Given the description of an element on the screen output the (x, y) to click on. 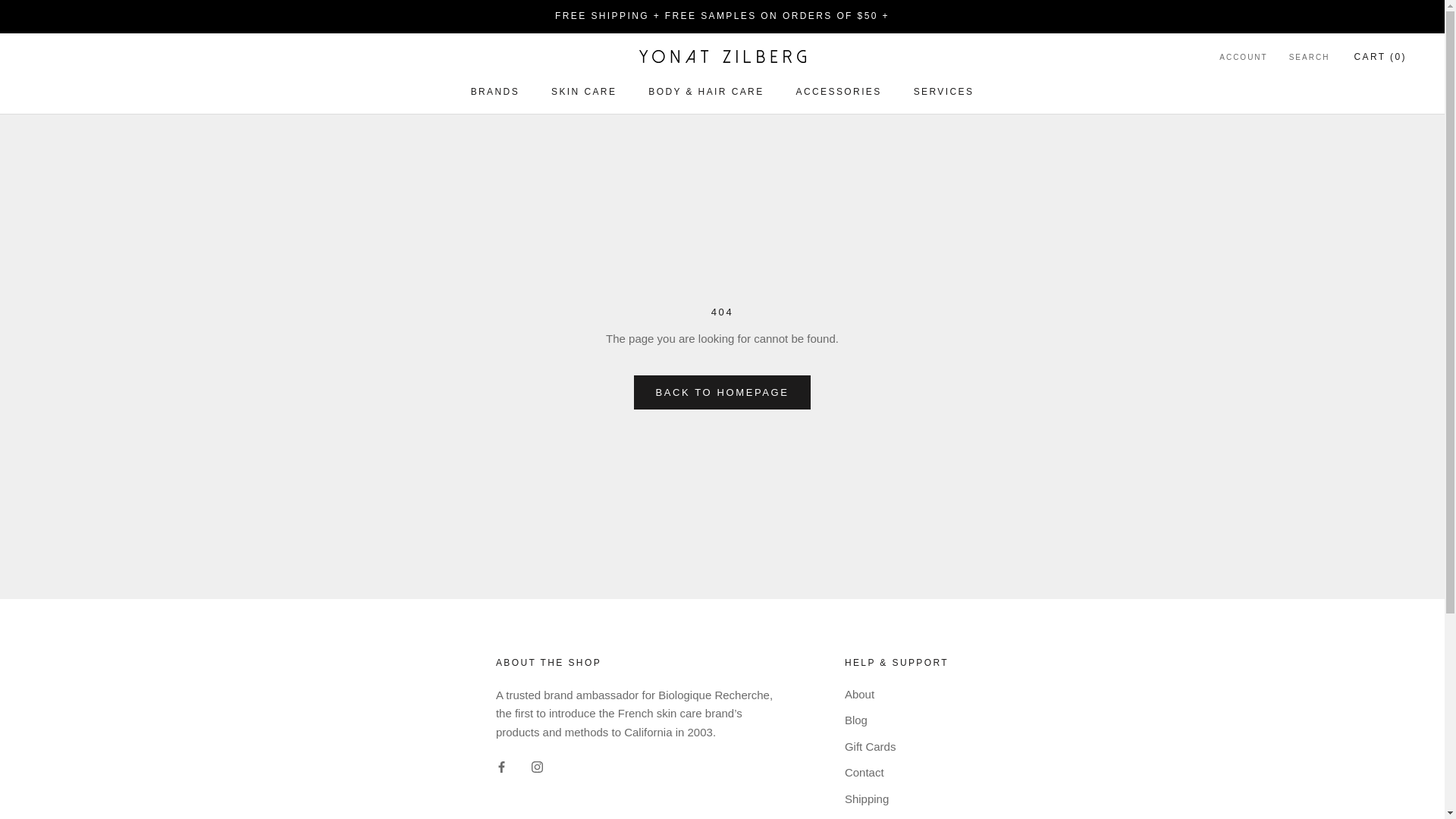
BRANDS (494, 91)
SKIN CARE (583, 91)
